Given the description of an element on the screen output the (x, y) to click on. 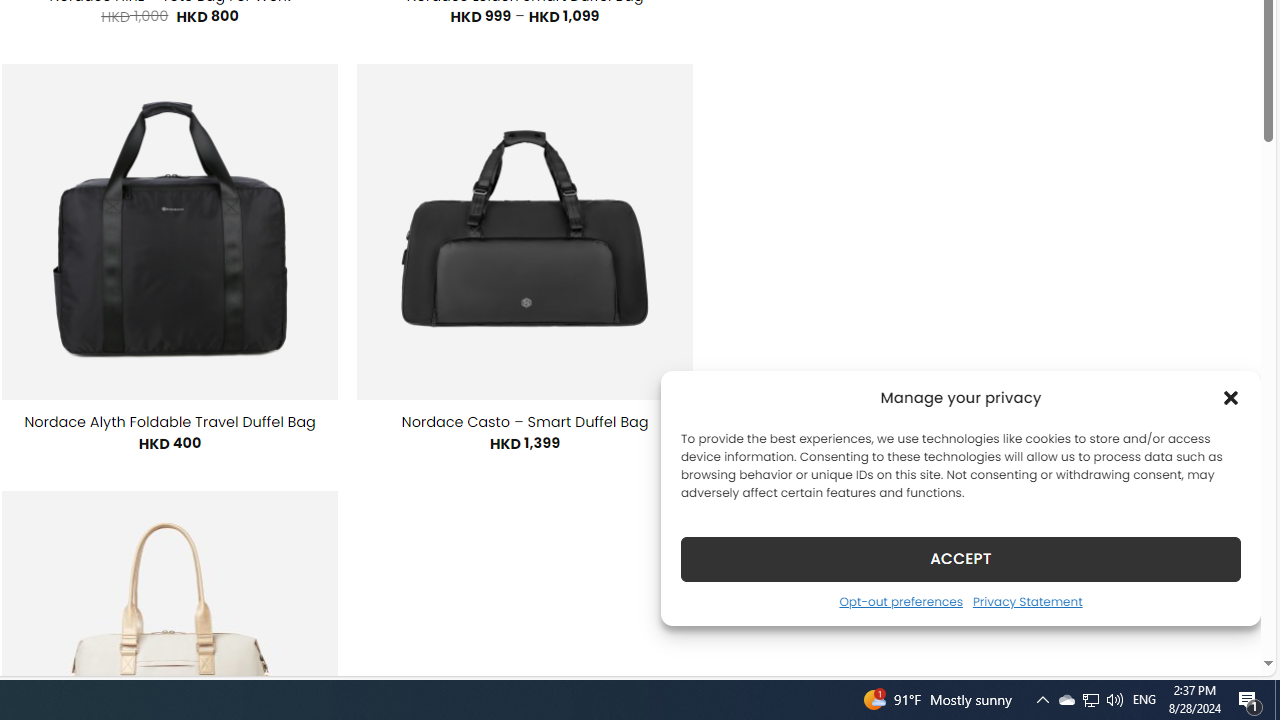
Privacy Statement (1026, 601)
Nordace Alyth Foldable Travel Duffel Bag (170, 422)
Class: cmplz-close (1231, 397)
ACCEPT (960, 558)
Opt-out preferences (900, 601)
